Given the description of an element on the screen output the (x, y) to click on. 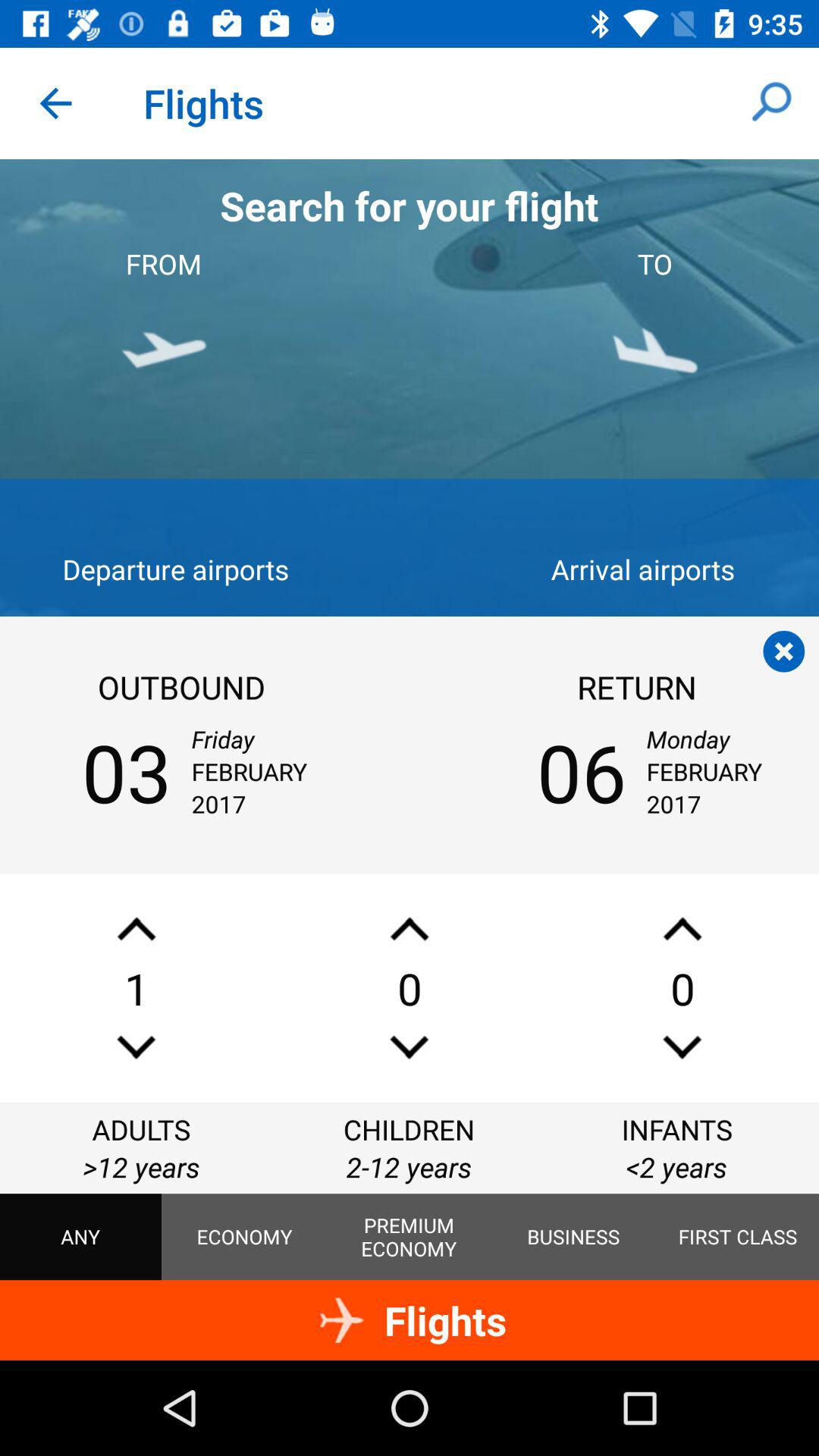
select the icon below <2 years (737, 1236)
